Given the description of an element on the screen output the (x, y) to click on. 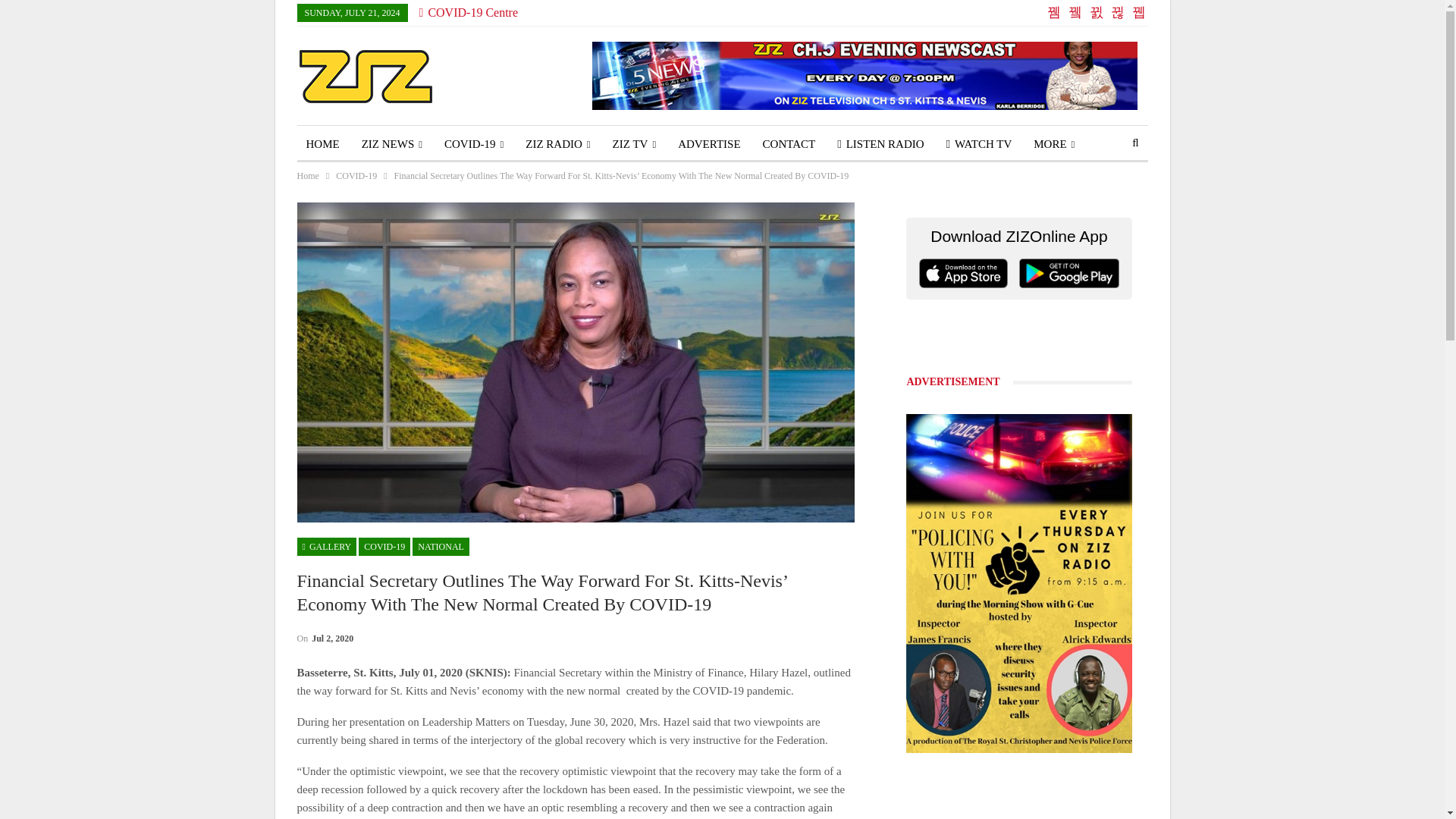
ZIZ NEWS (391, 144)
COVID-19 (473, 144)
COVID-19 Centre (468, 11)
HOME (323, 144)
